Given the description of an element on the screen output the (x, y) to click on. 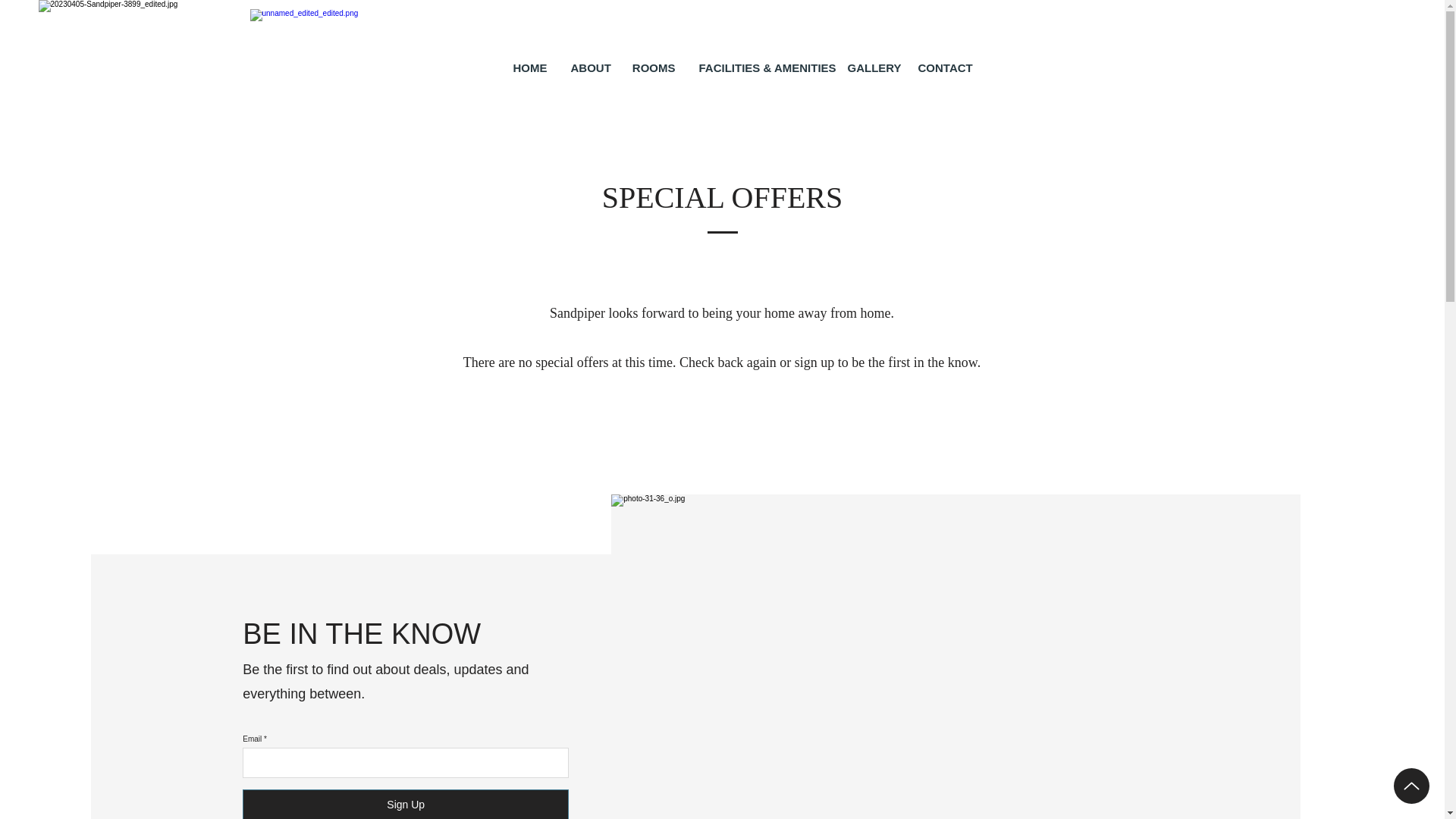
CONTACT (943, 67)
HOME (529, 67)
ABOUT (588, 67)
Sign Up (406, 804)
ROOMS (653, 67)
GALLERY (870, 67)
